Given the description of an element on the screen output the (x, y) to click on. 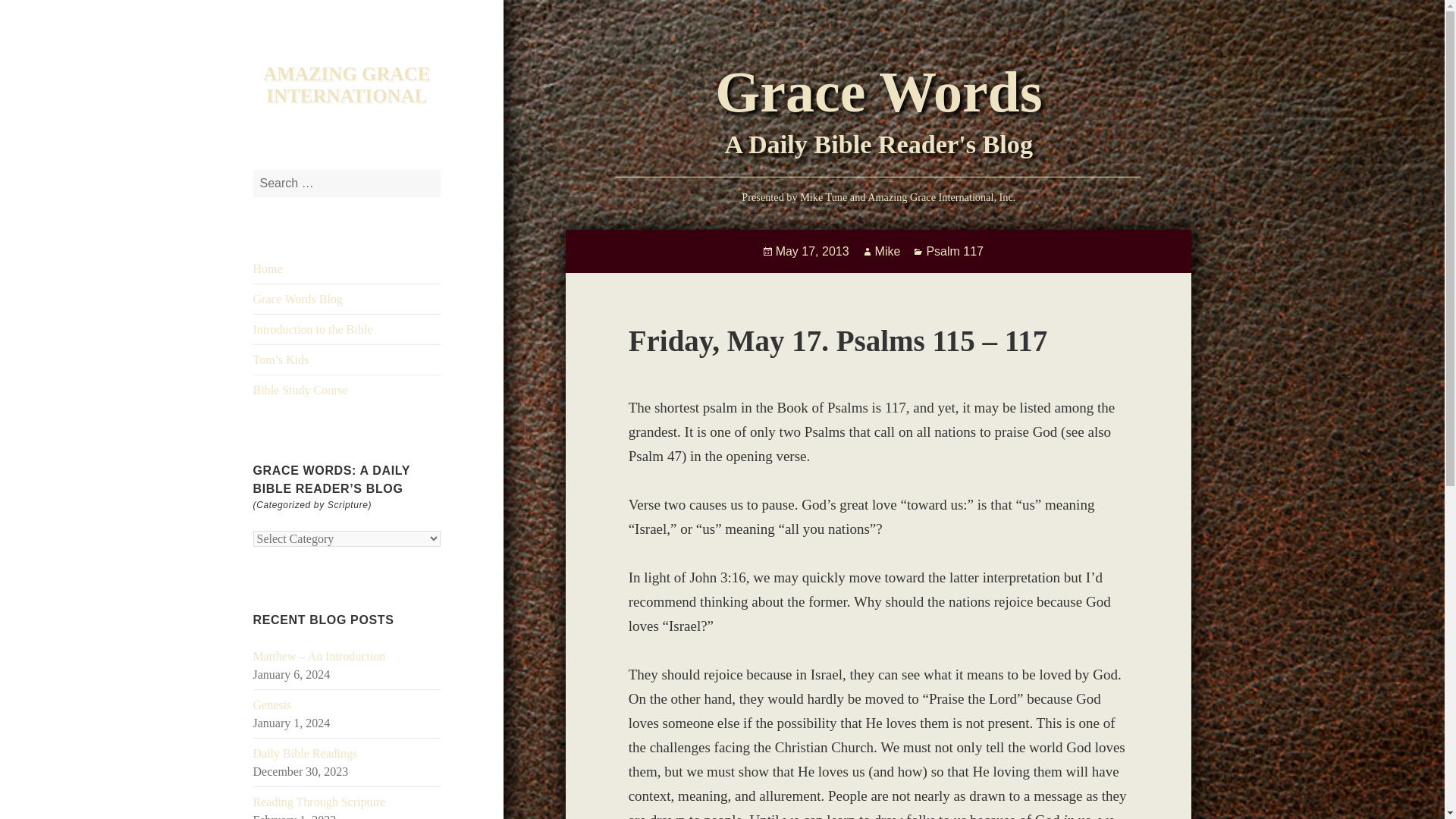
Home (267, 268)
AMAZING GRACE INTERNATIONAL (346, 85)
Reading Through Scripture (319, 801)
Daily Bible Readings (305, 753)
May 17, 2013 (812, 251)
Bible Study Course (300, 390)
Introduction to the Bible (312, 328)
Psalm 117 (955, 251)
Mike (888, 251)
Genesis (272, 704)
Grace Words Blog (297, 298)
